Given the description of an element on the screen output the (x, y) to click on. 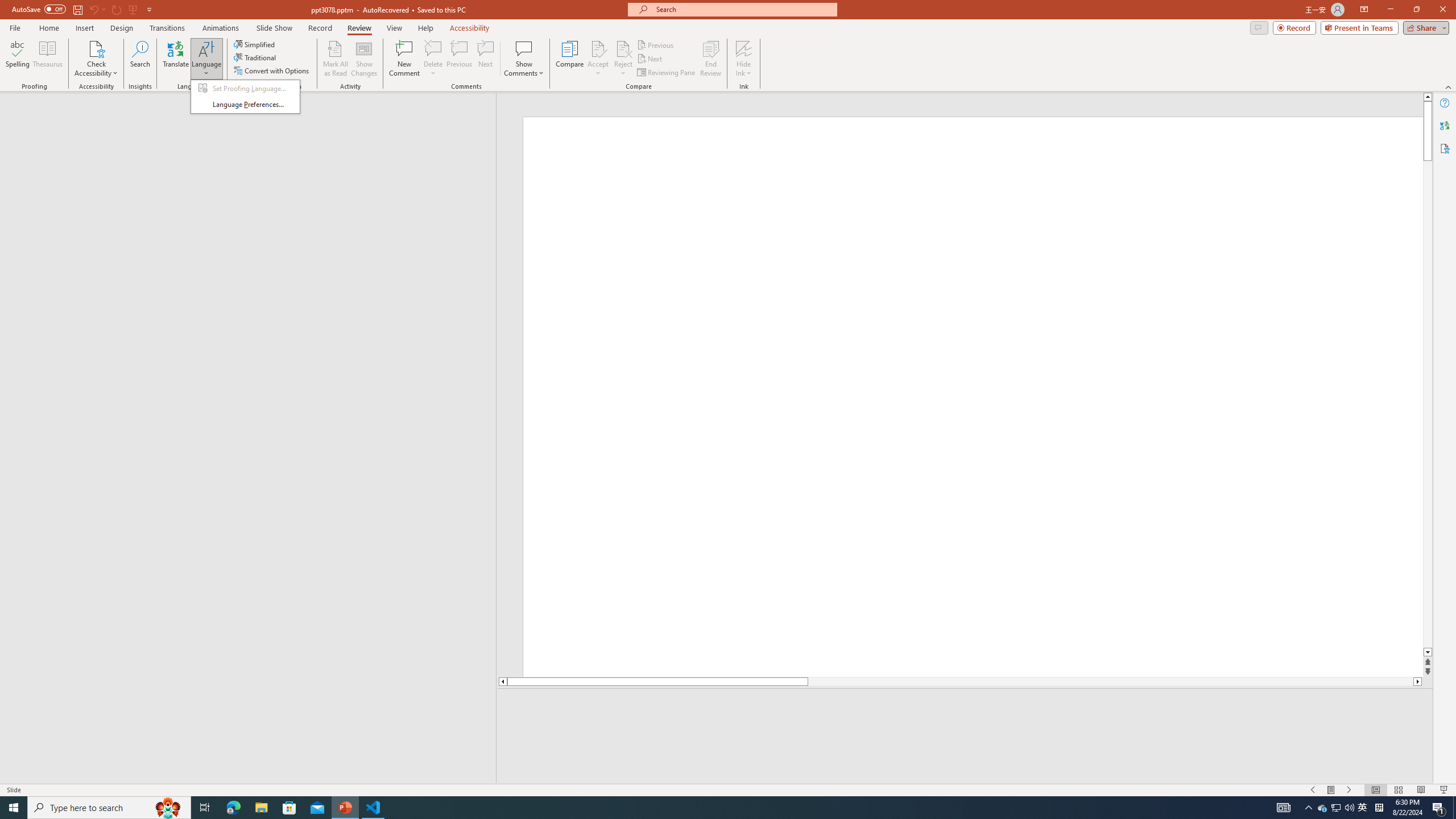
Traditional (255, 56)
Thesaurus... (47, 58)
Next (649, 58)
Reject Change (622, 48)
